Given the description of an element on the screen output the (x, y) to click on. 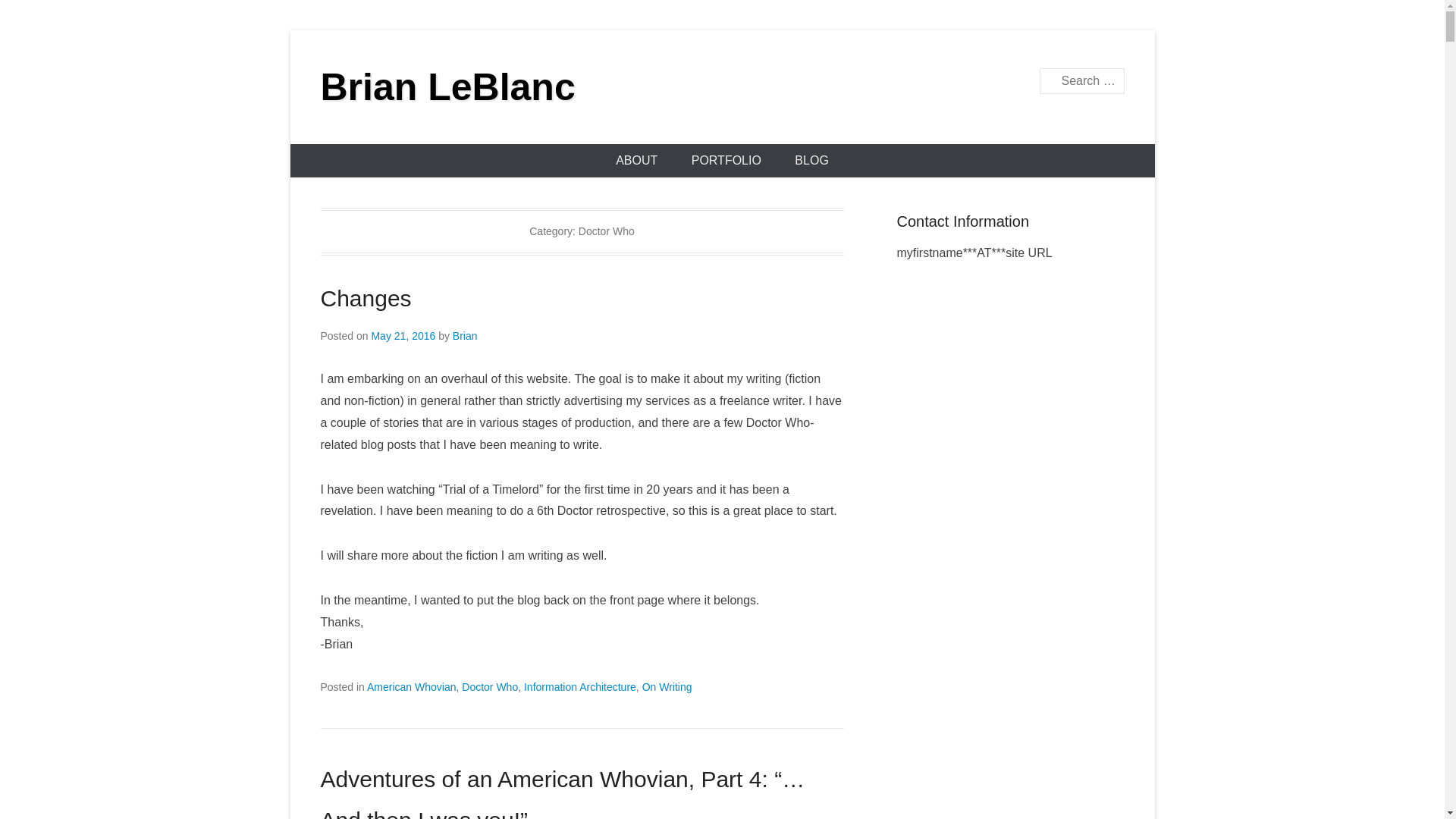
May 21, 2016 (403, 336)
American Whovian (411, 686)
Information Architecture (580, 686)
Brian (464, 336)
22:47 (403, 336)
View all posts by Brian (464, 336)
Brian LeBlanc (447, 87)
ABOUT (635, 160)
On Writing (667, 686)
Search (32, 15)
